Given the description of an element on the screen output the (x, y) to click on. 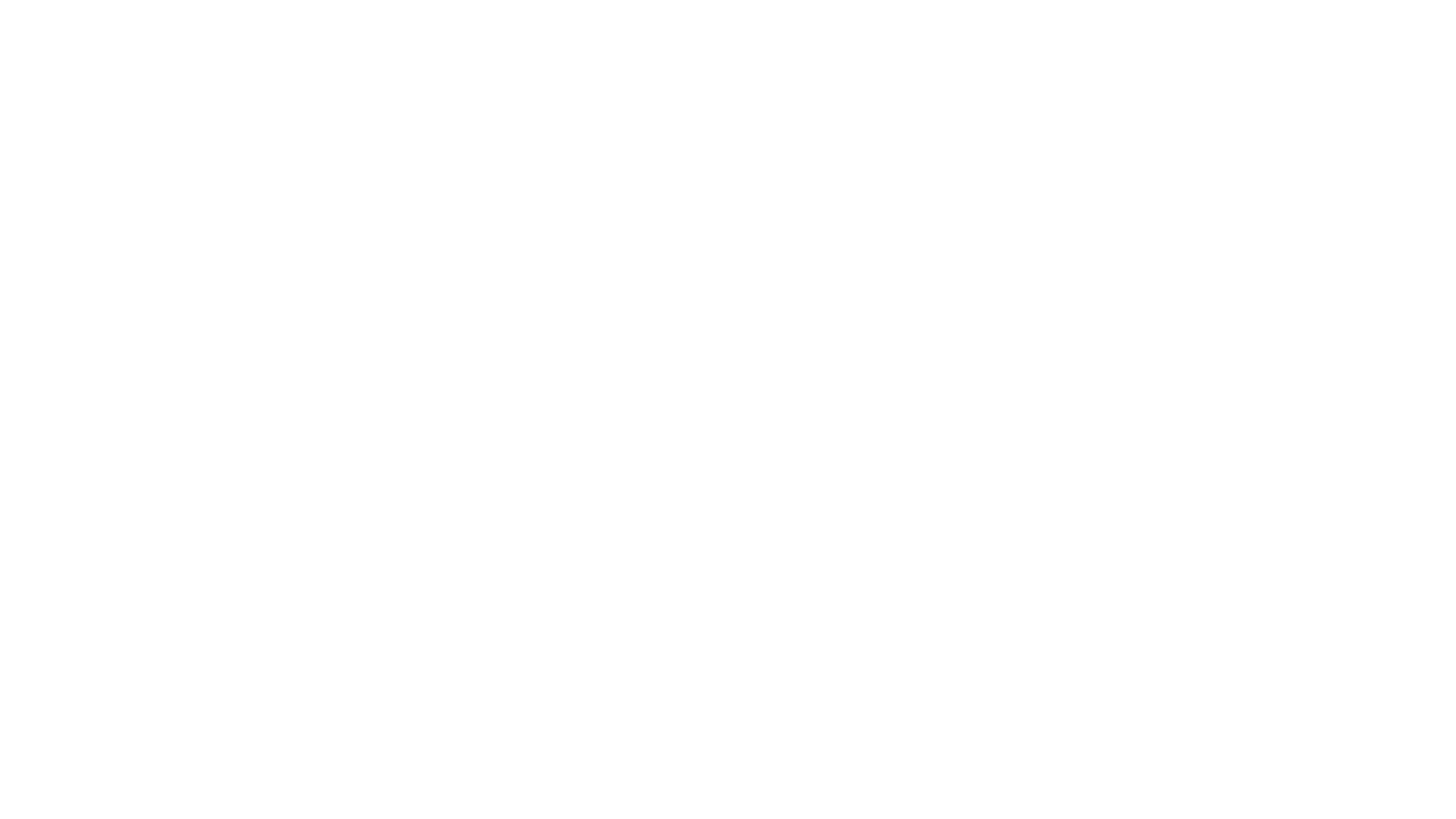
Cloudflare Element type: text (798, 799)
